Given the description of an element on the screen output the (x, y) to click on. 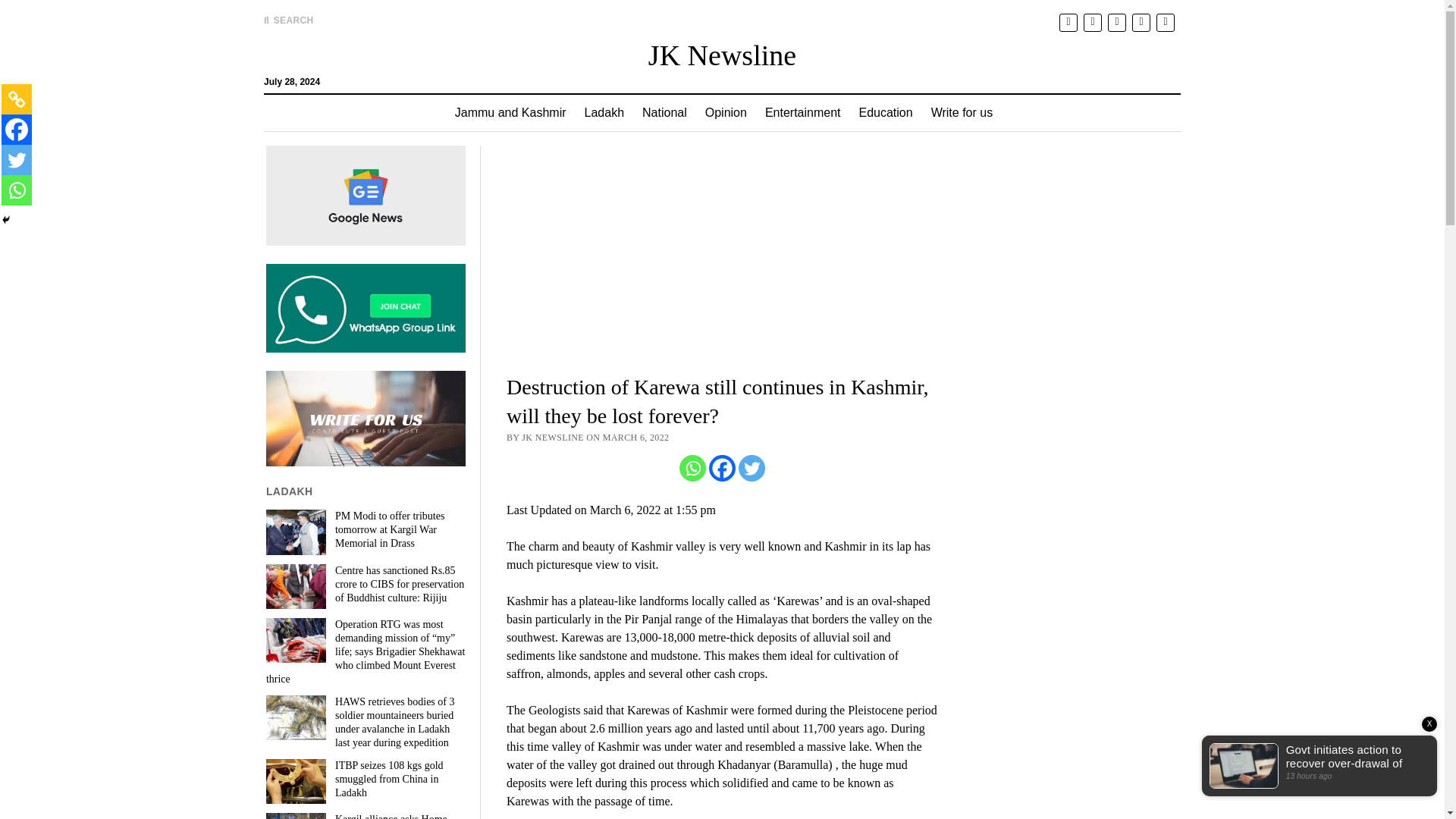
Jammu and Kashmir (510, 113)
SEARCH (288, 20)
Whatsapp (692, 468)
Hide (5, 219)
ITBP seizes 108 kgs gold smuggled from China in Ladakh (365, 779)
Whatsapp (16, 190)
phone (1165, 22)
Ladakh (604, 113)
Opinion (725, 113)
Facebook (722, 468)
Twitter (751, 468)
Write for us (962, 113)
